Given the description of an element on the screen output the (x, y) to click on. 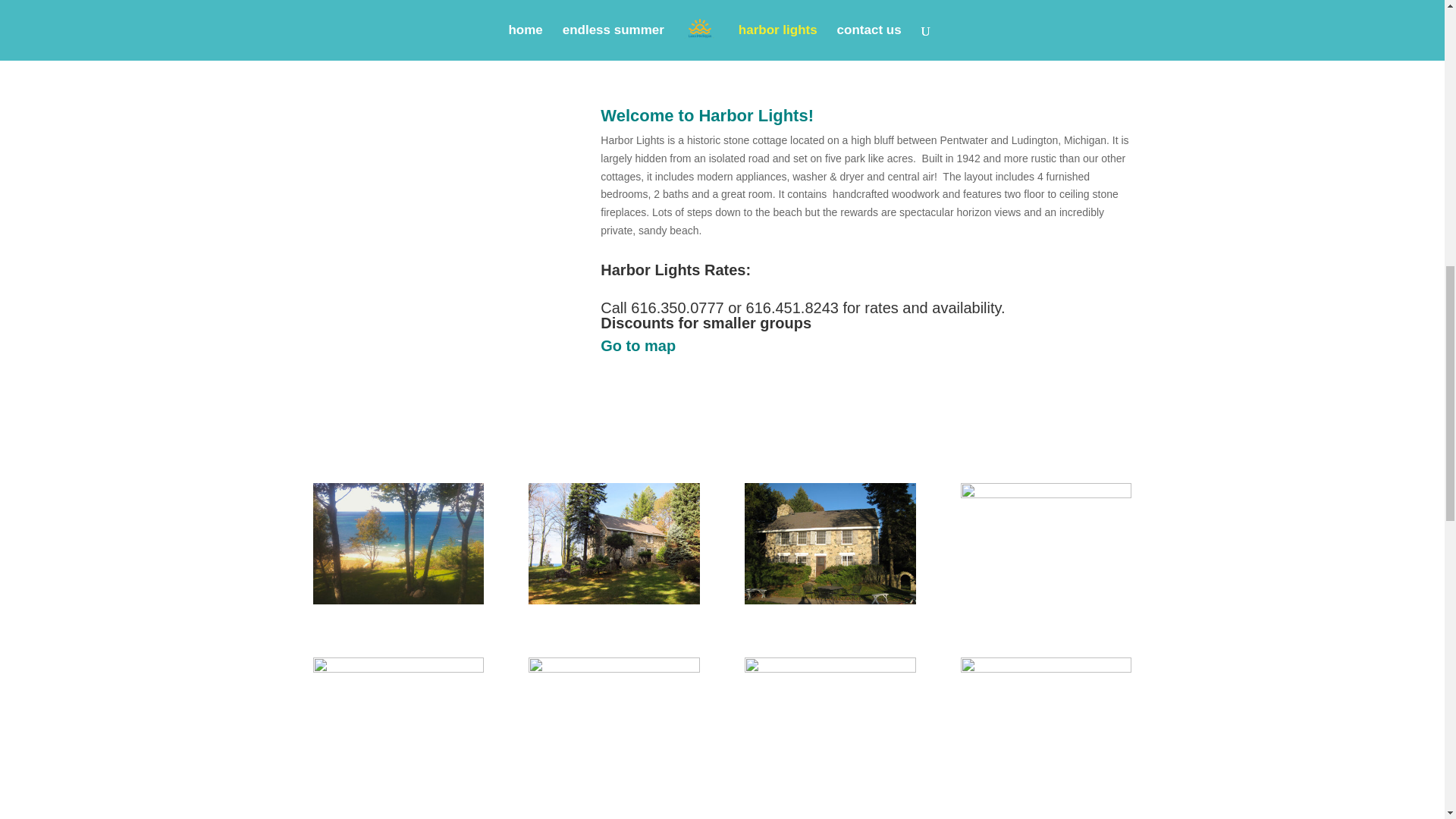
Go to map (637, 345)
HarborLts2016 (613, 600)
HarborLightsView (398, 600)
